Given the description of an element on the screen output the (x, y) to click on. 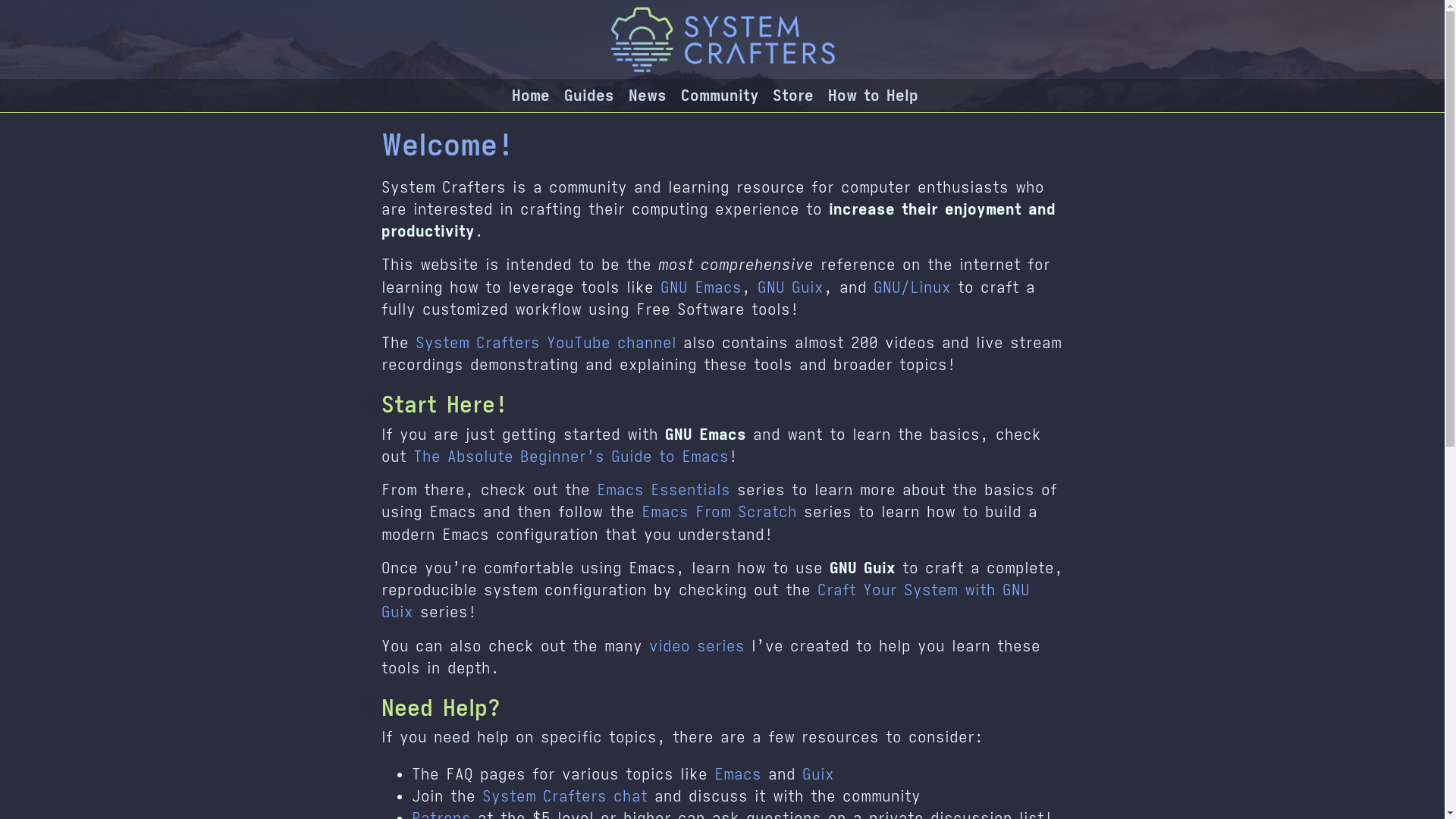
Guides Element type: text (589, 95)
GNU Emacs Element type: text (699, 286)
Emacs From Scratch Element type: text (719, 511)
Community Element type: text (719, 95)
How to Help Element type: text (873, 95)
News Element type: text (647, 95)
video series Element type: text (696, 646)
Emacs Element type: text (737, 774)
GNU/Linux Element type: text (911, 286)
Home Element type: text (530, 95)
Store Element type: text (792, 95)
System Crafters YouTube channel Element type: text (545, 342)
Craft Your System with GNU Guix Element type: text (704, 600)
Emacs Essentials Element type: text (662, 489)
Guix Element type: text (818, 774)
GNU Guix Element type: text (789, 286)
System Crafters chat Element type: text (564, 796)
